Given the description of an element on the screen output the (x, y) to click on. 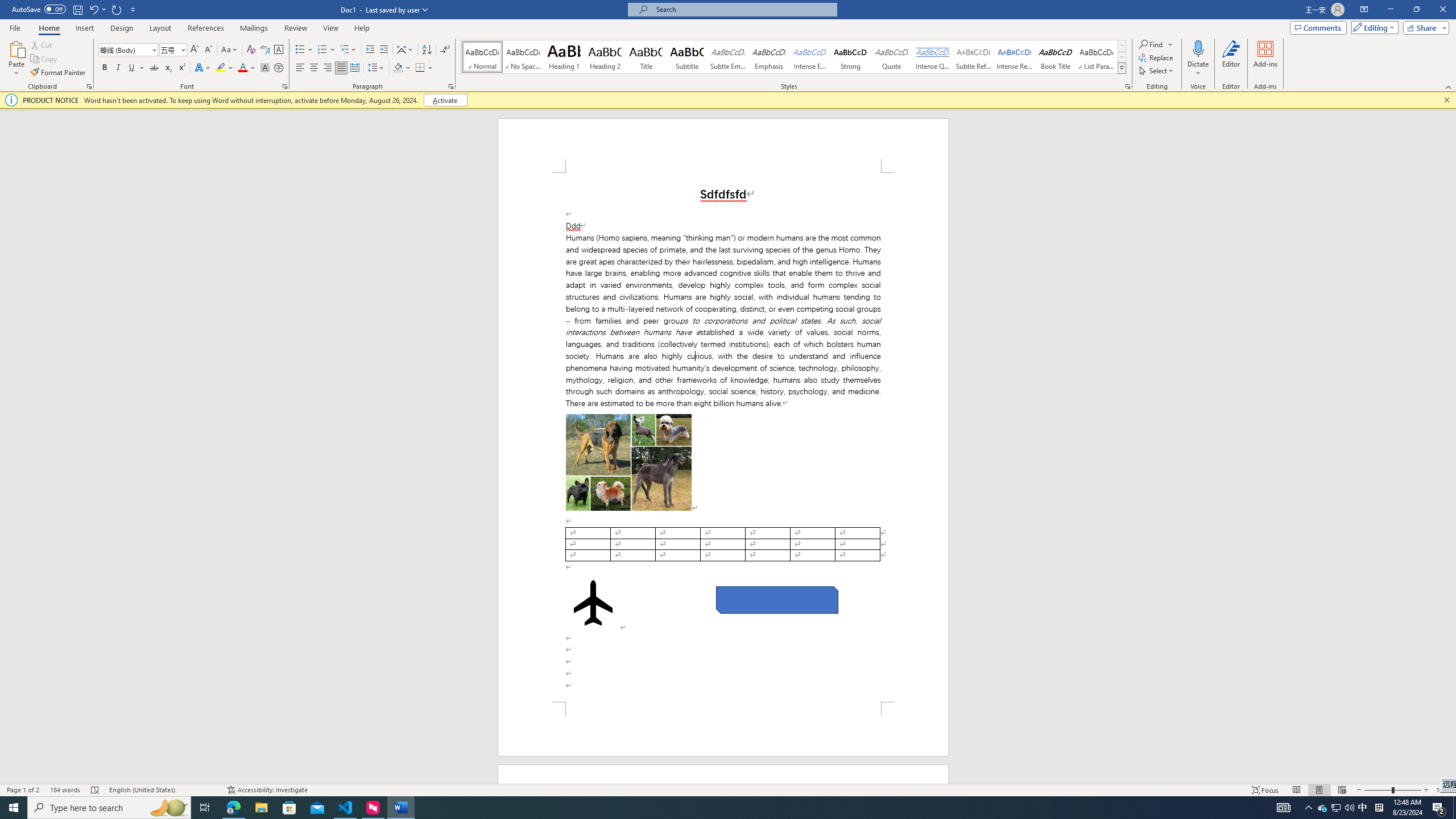
Airplane with solid fill (593, 602)
